Given the description of an element on the screen output the (x, y) to click on. 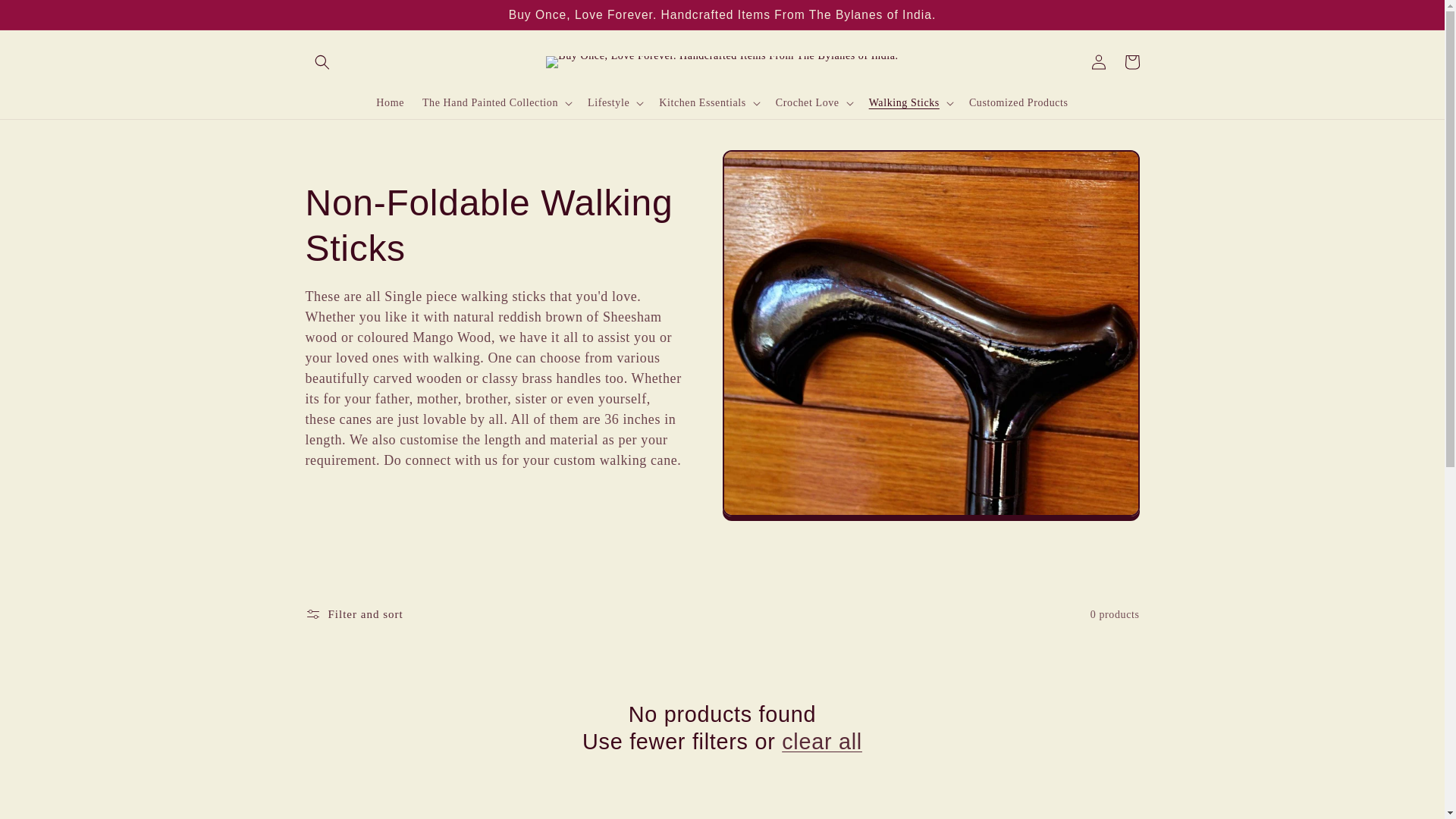
Skip to content (46, 18)
